Given the description of an element on the screen output the (x, y) to click on. 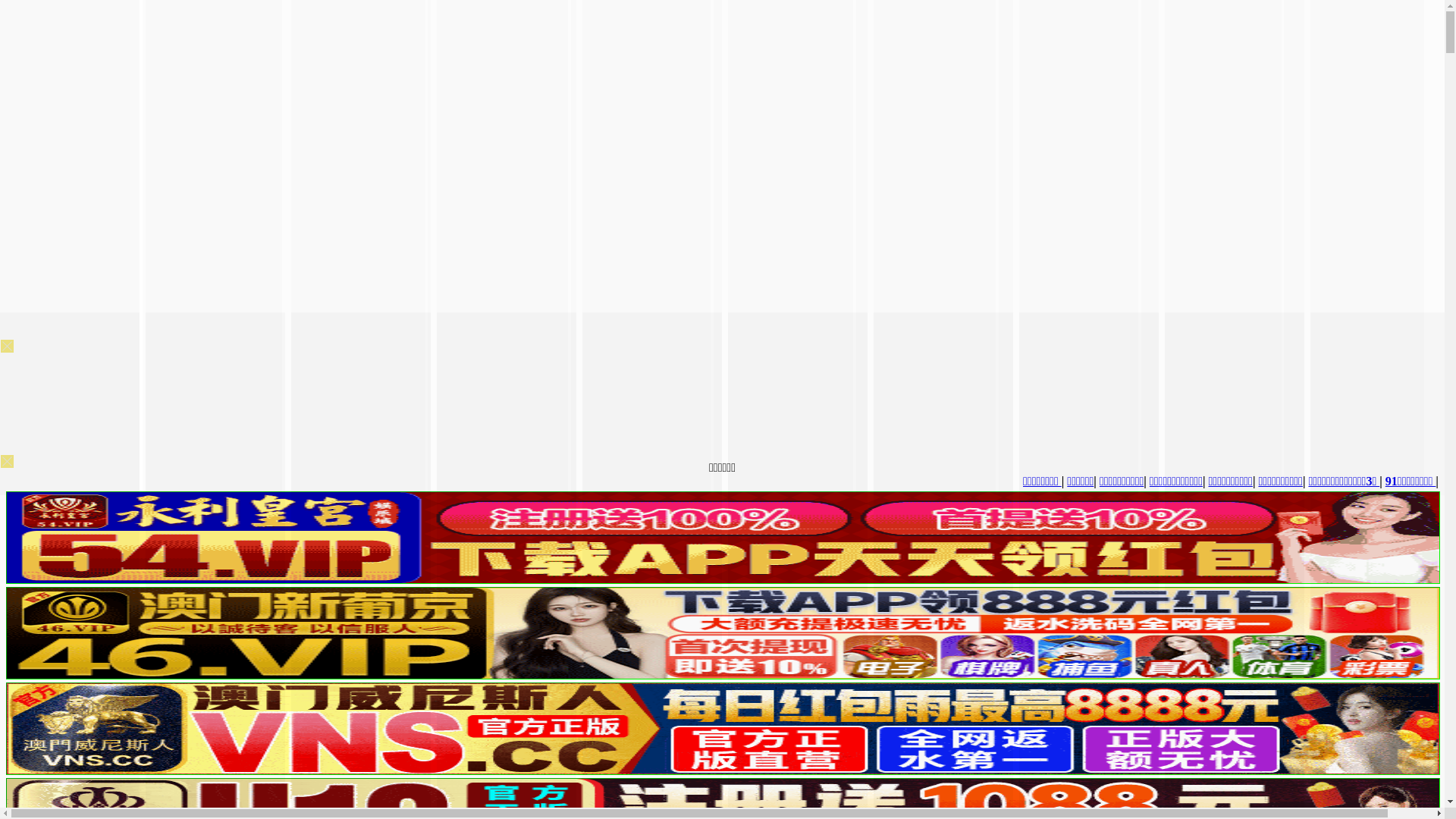
| Element type: text (1438, 480)
| Element type: text (858, 480)
| Element type: text (747, 480)
| Element type: text (1034, 480)
| Element type: text (909, 480)
| Element type: text (968, 480)
| Element type: text (1253, 480)
| Element type: text (578, 480)
| Element type: text (801, 480)
| Element type: text (473, 480)
| Element type: text (1399, 480)
| Element type: text (625, 480)
| Element type: text (1076, 480)
| Element type: text (1184, 480)
| Element type: text (1305, 480)
| Element type: text (1357, 480)
| Element type: text (443, 480)
| Element type: text (1118, 480)
| Element type: text (674, 480)
| Element type: text (522, 480)
